Given the description of an element on the screen output the (x, y) to click on. 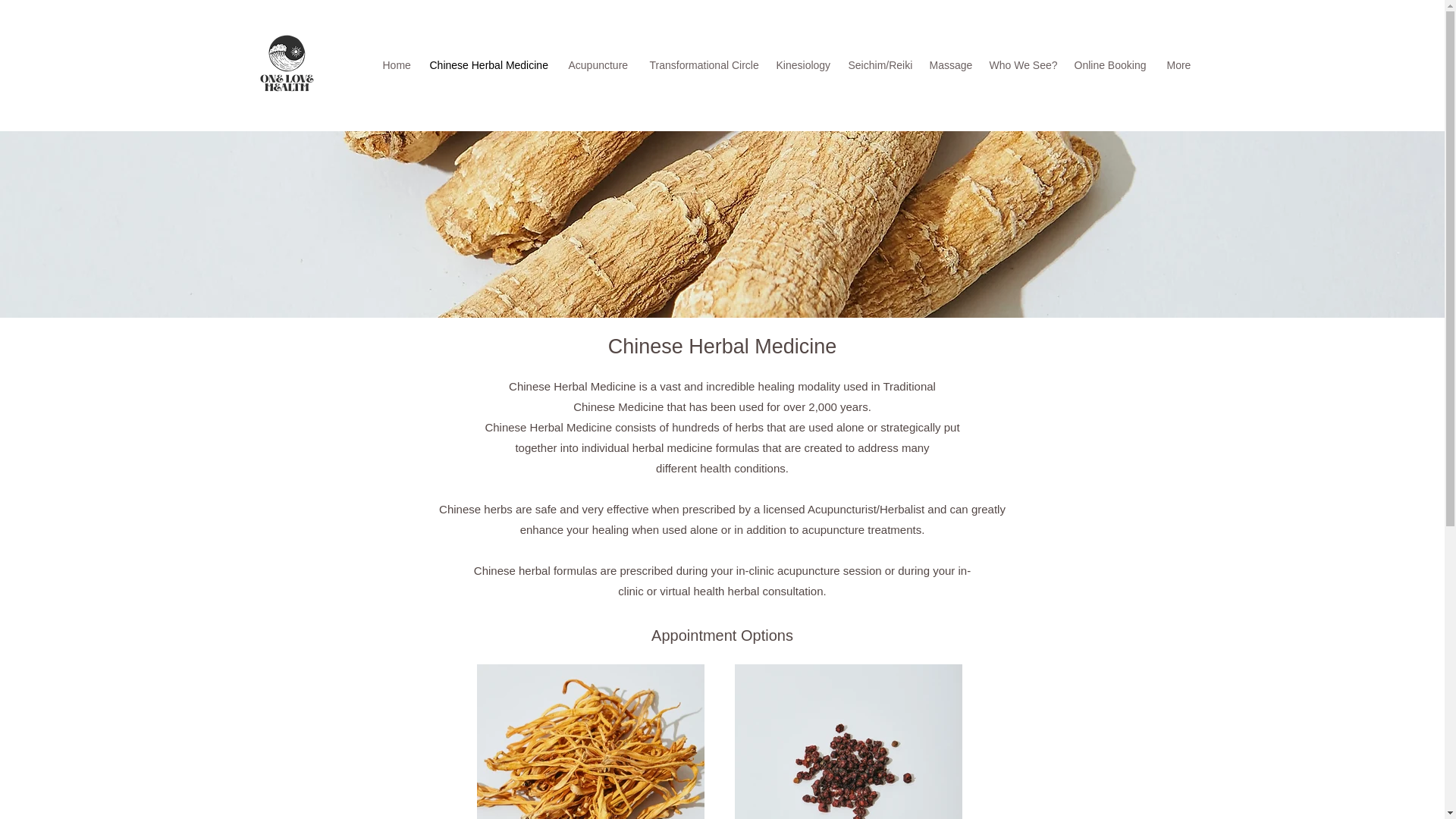
Kinesiology (804, 65)
Home (398, 65)
Chinese Herbal Medicine (491, 65)
Transformational Circle (705, 65)
Online Booking (1111, 65)
Massage (951, 65)
Who We See? (1023, 65)
Acupuncture (601, 65)
